Given the description of an element on the screen output the (x, y) to click on. 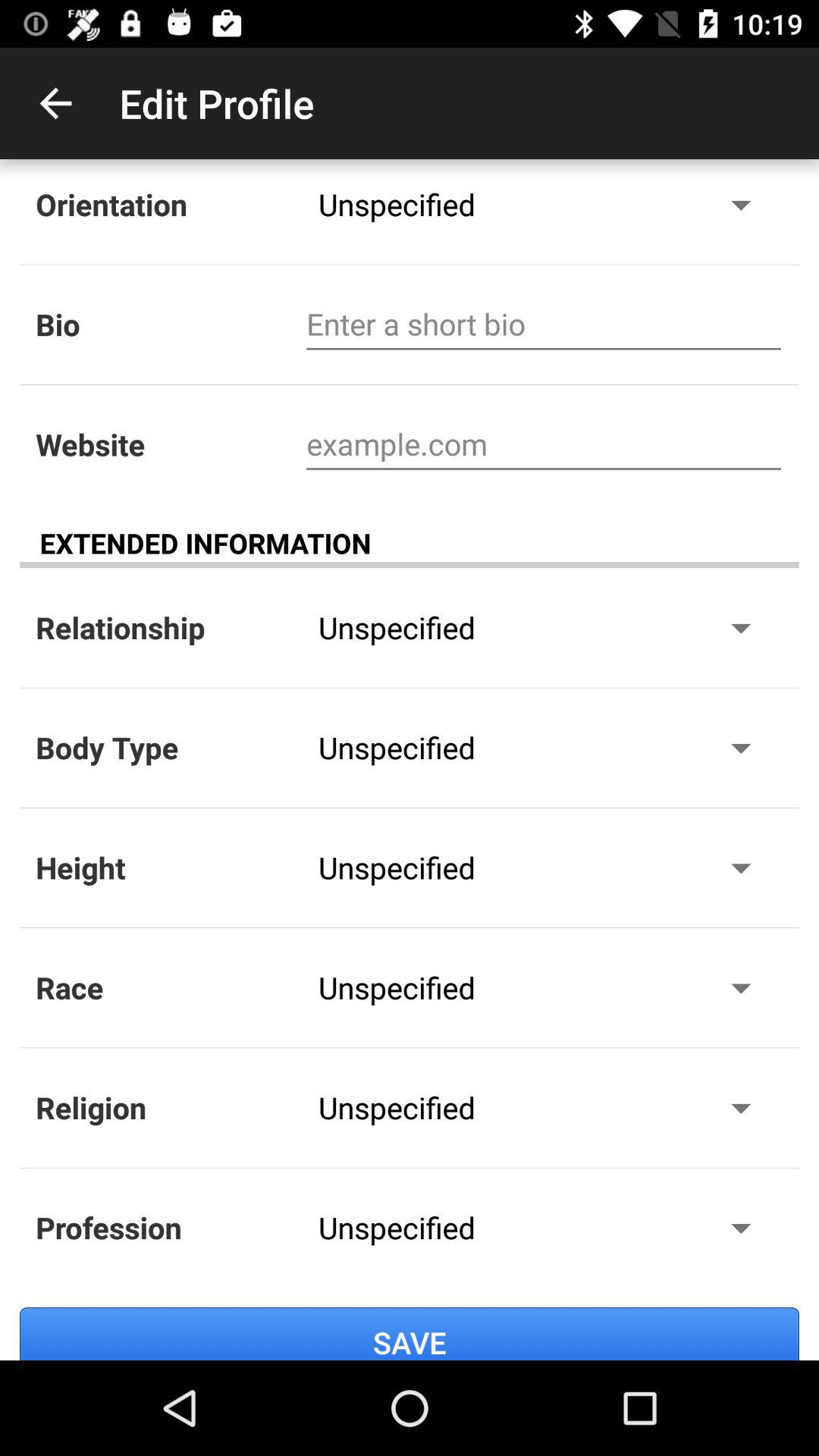
enter a short bio (543, 324)
